Given the description of an element on the screen output the (x, y) to click on. 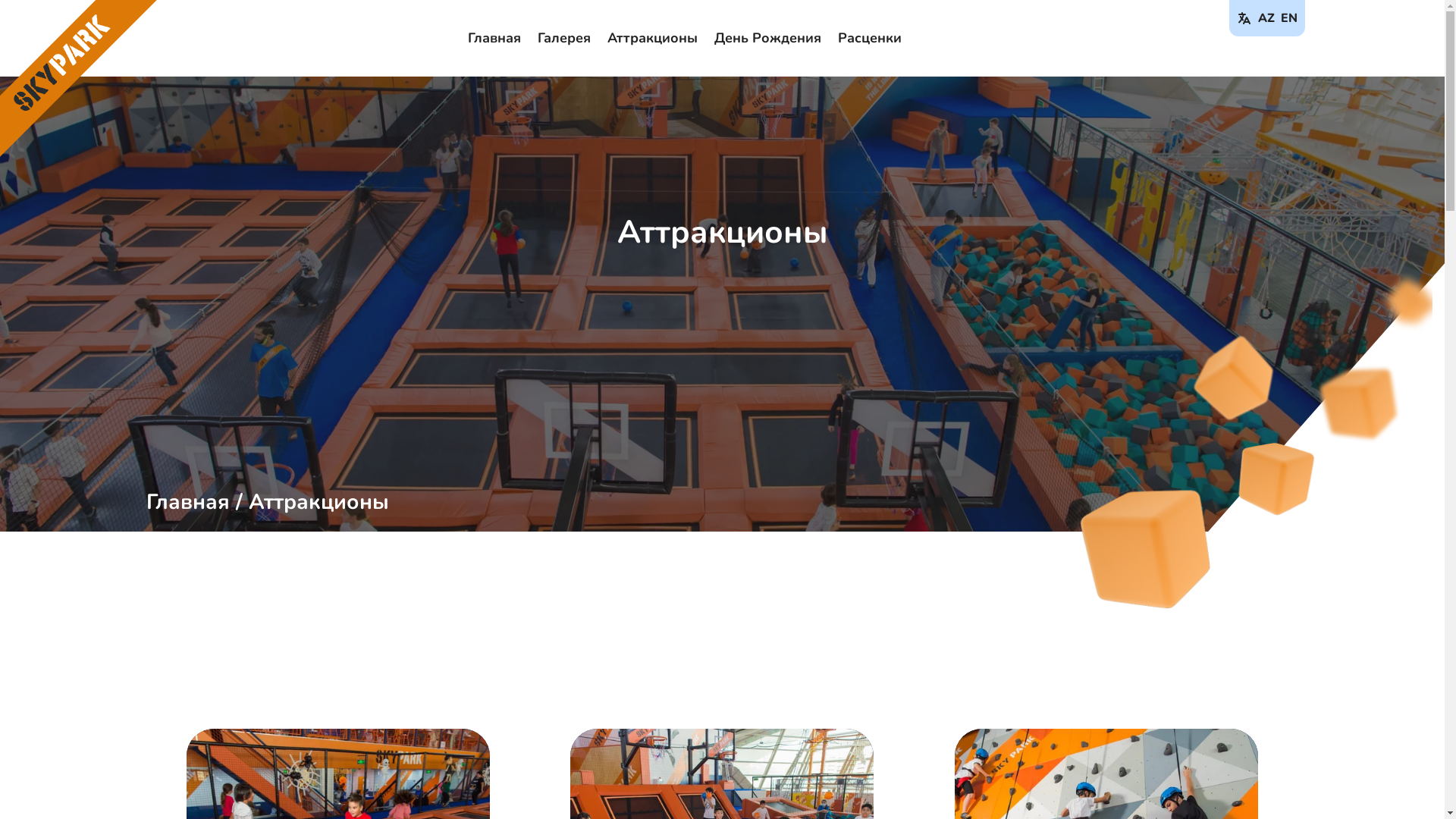
EN Element type: text (1288, 18)
AZ Element type: text (1265, 18)
